Given the description of an element on the screen output the (x, y) to click on. 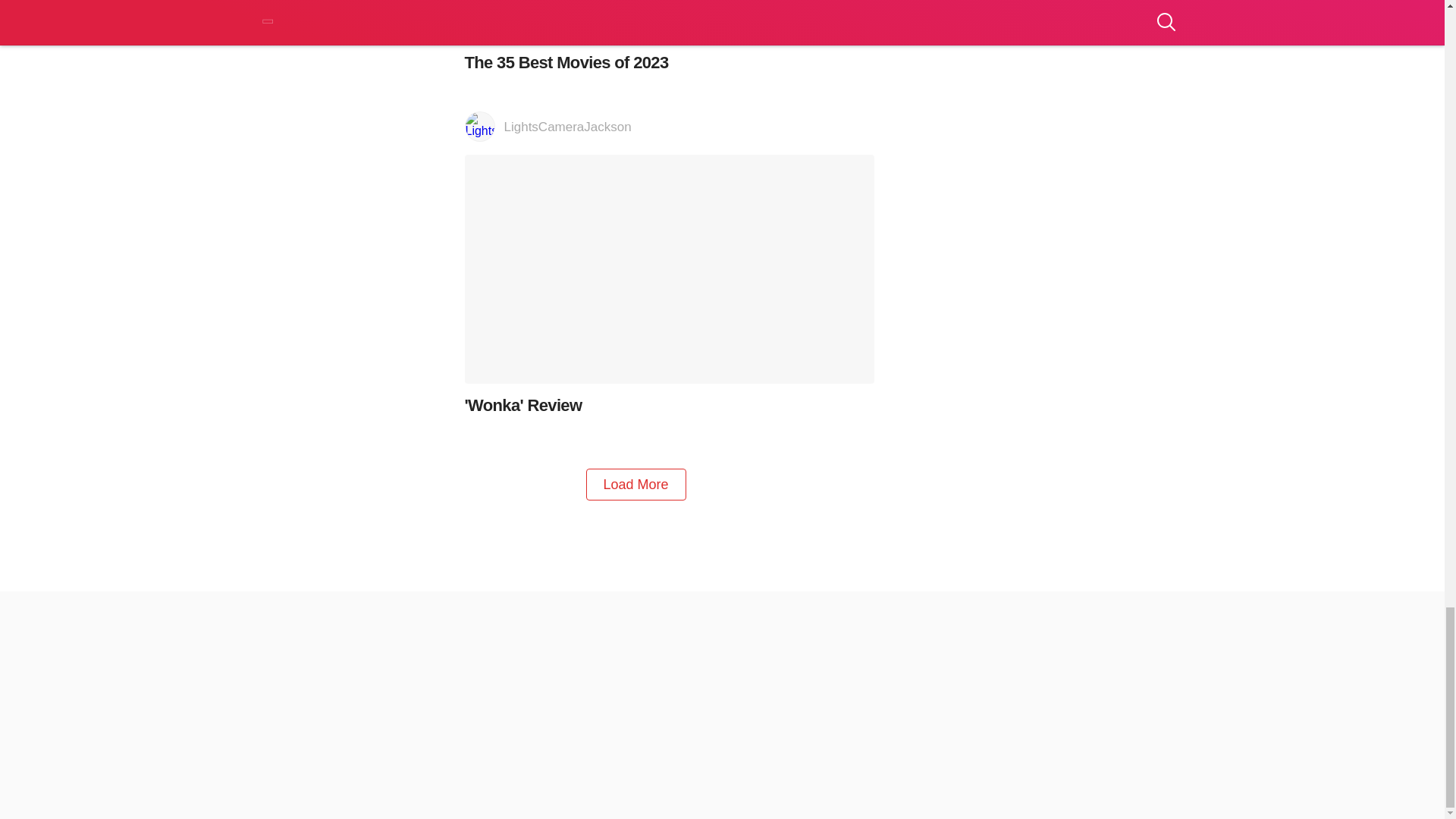
'Wonka' Review (668, 285)
LightsCameraJackson (668, 127)
Load More (635, 484)
The 35 Best Movies of 2023 (668, 36)
